Given the description of an element on the screen output the (x, y) to click on. 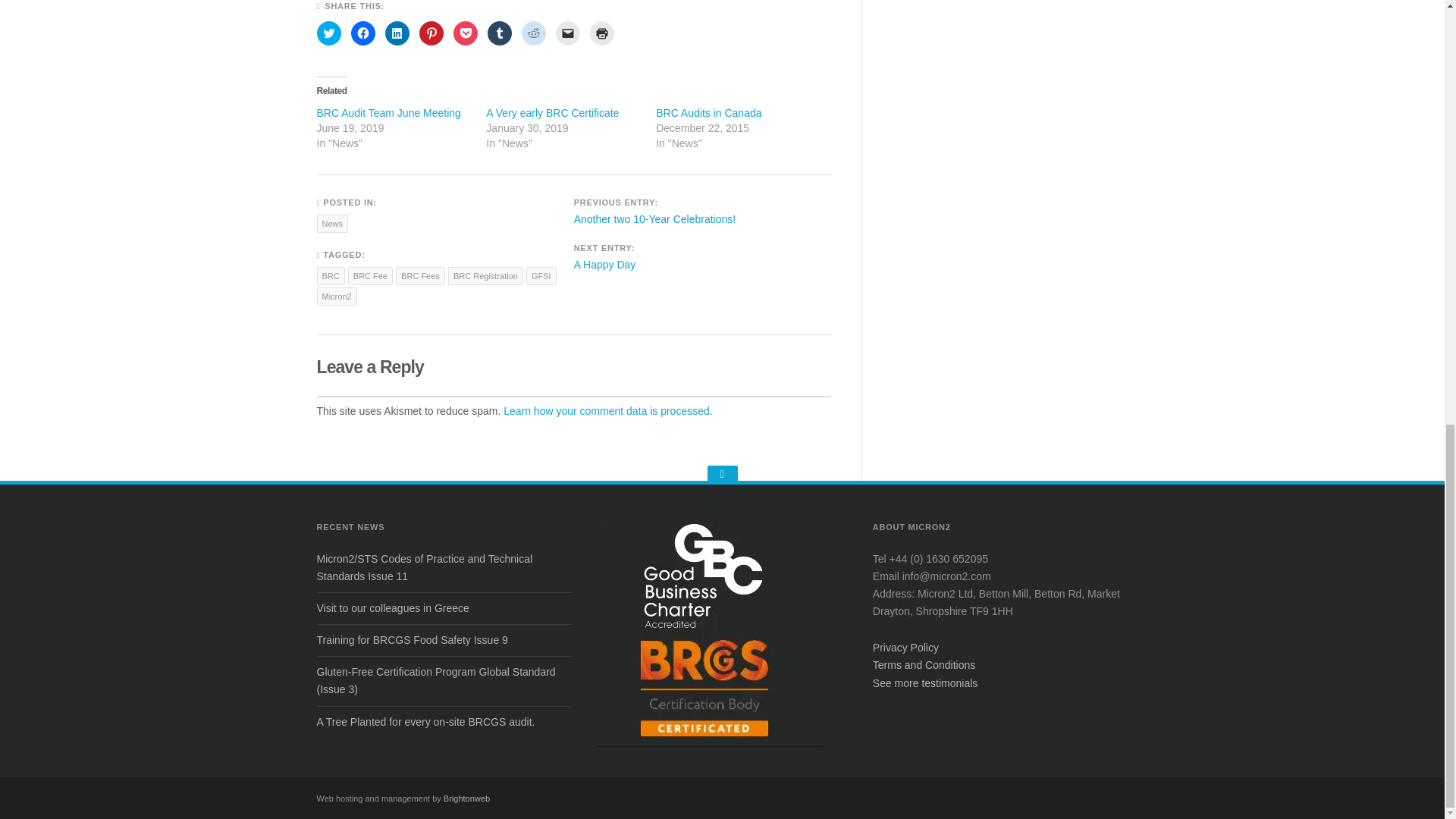
BRC Audits in Canada (708, 112)
Click to share on Twitter (328, 33)
Click to share on Reddit (533, 33)
BRC Audits in Canada (708, 112)
News (333, 223)
Click to email this to a friend (566, 33)
Click to share on Tumblr (498, 33)
BRC Audit Team June Meeting (389, 112)
Click to share on Pinterest (430, 33)
Click to share on Facebook (362, 33)
BRC Audit Team June Meeting (389, 112)
A Very early BRC Certificate (552, 112)
A Very early BRC Certificate (552, 112)
Click to share on Pocket (464, 33)
